Given the description of an element on the screen output the (x, y) to click on. 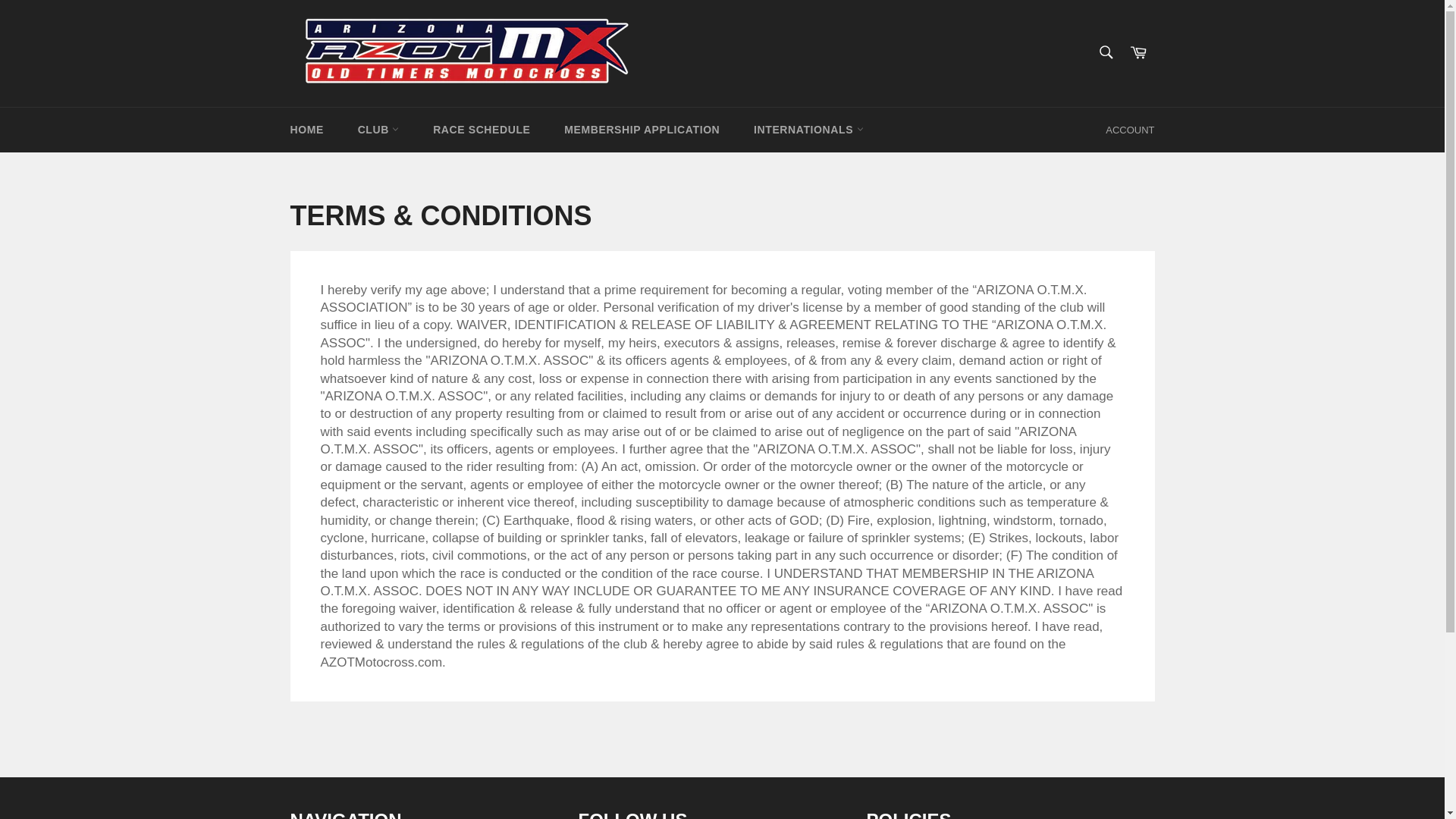
HOME (306, 129)
RACE SCHEDULE (480, 129)
Search (1104, 51)
Cart (1138, 53)
MEMBERSHIP APPLICATION (641, 129)
CLUB (378, 129)
